Given the description of an element on the screen output the (x, y) to click on. 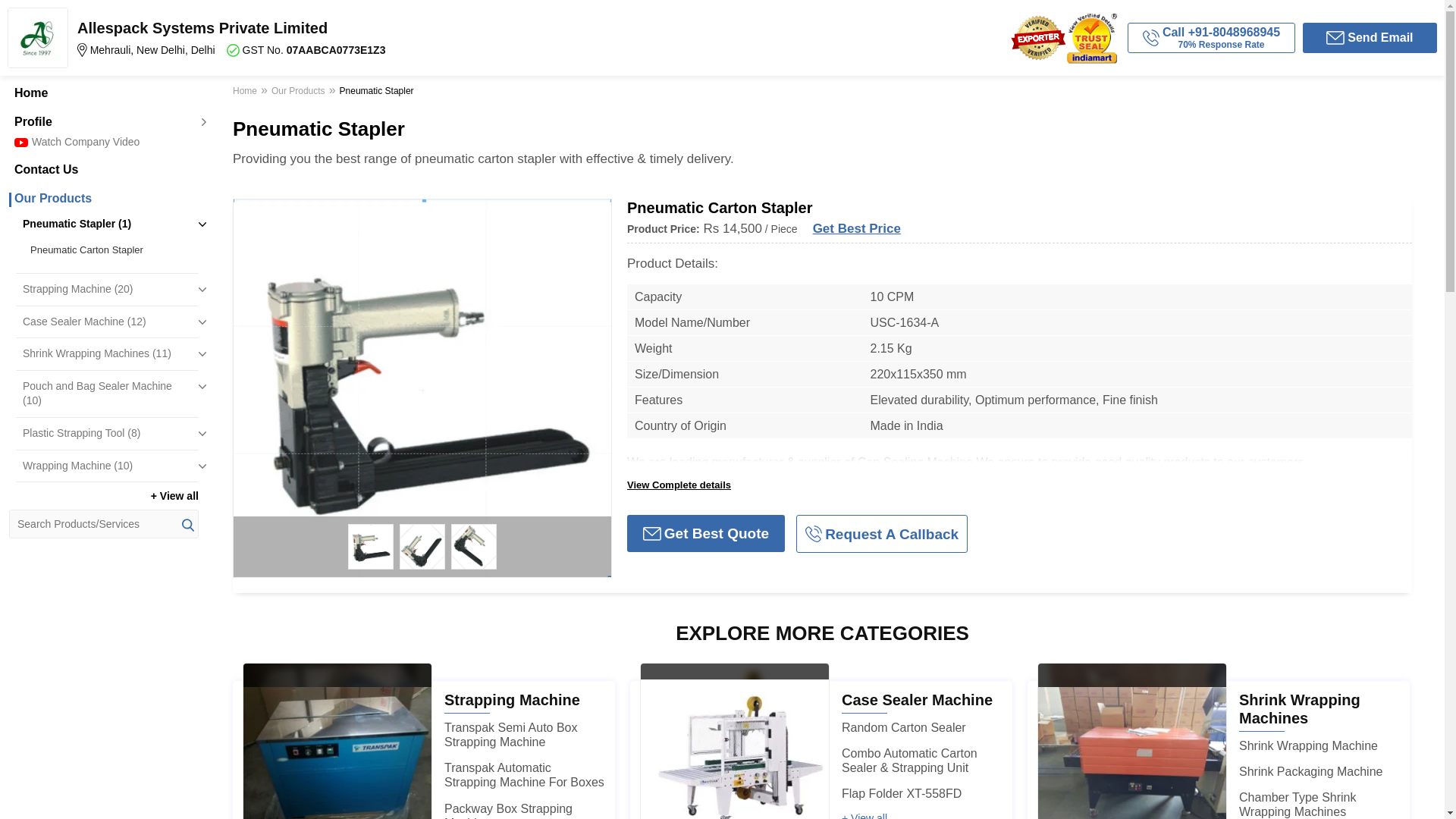
Our Products (103, 198)
Contact Us (103, 169)
Pneumatic Carton Stapler (110, 250)
Home (103, 92)
Profile (103, 121)
